Given the description of an element on the screen output the (x, y) to click on. 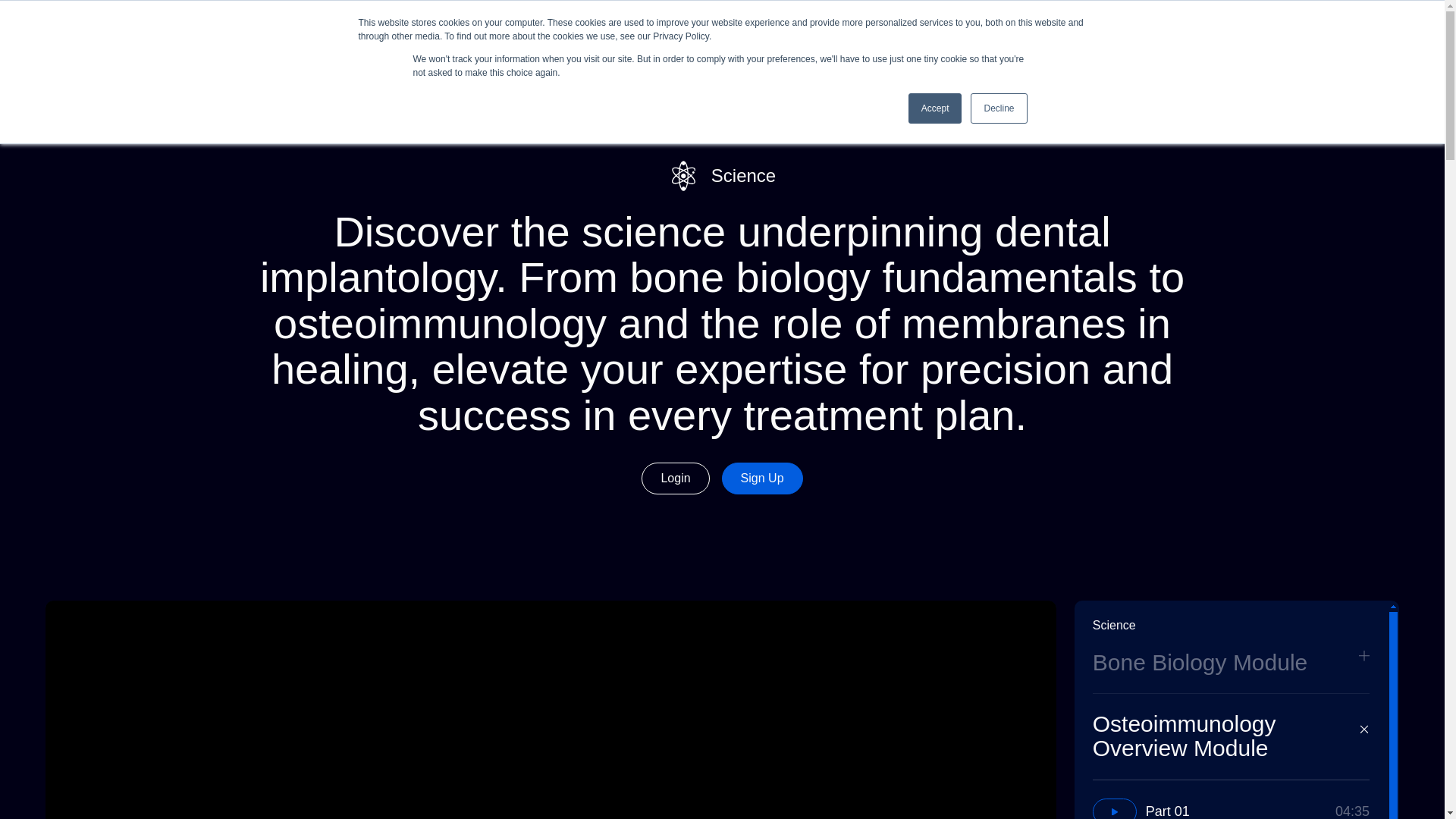
Home (875, 46)
Science (947, 47)
Sign Up (1231, 799)
Login (762, 478)
Login (1253, 47)
Accept (675, 478)
Application (935, 108)
Decline (1045, 47)
Sign Up (998, 108)
In Practice (1340, 47)
